Given the description of an element on the screen output the (x, y) to click on. 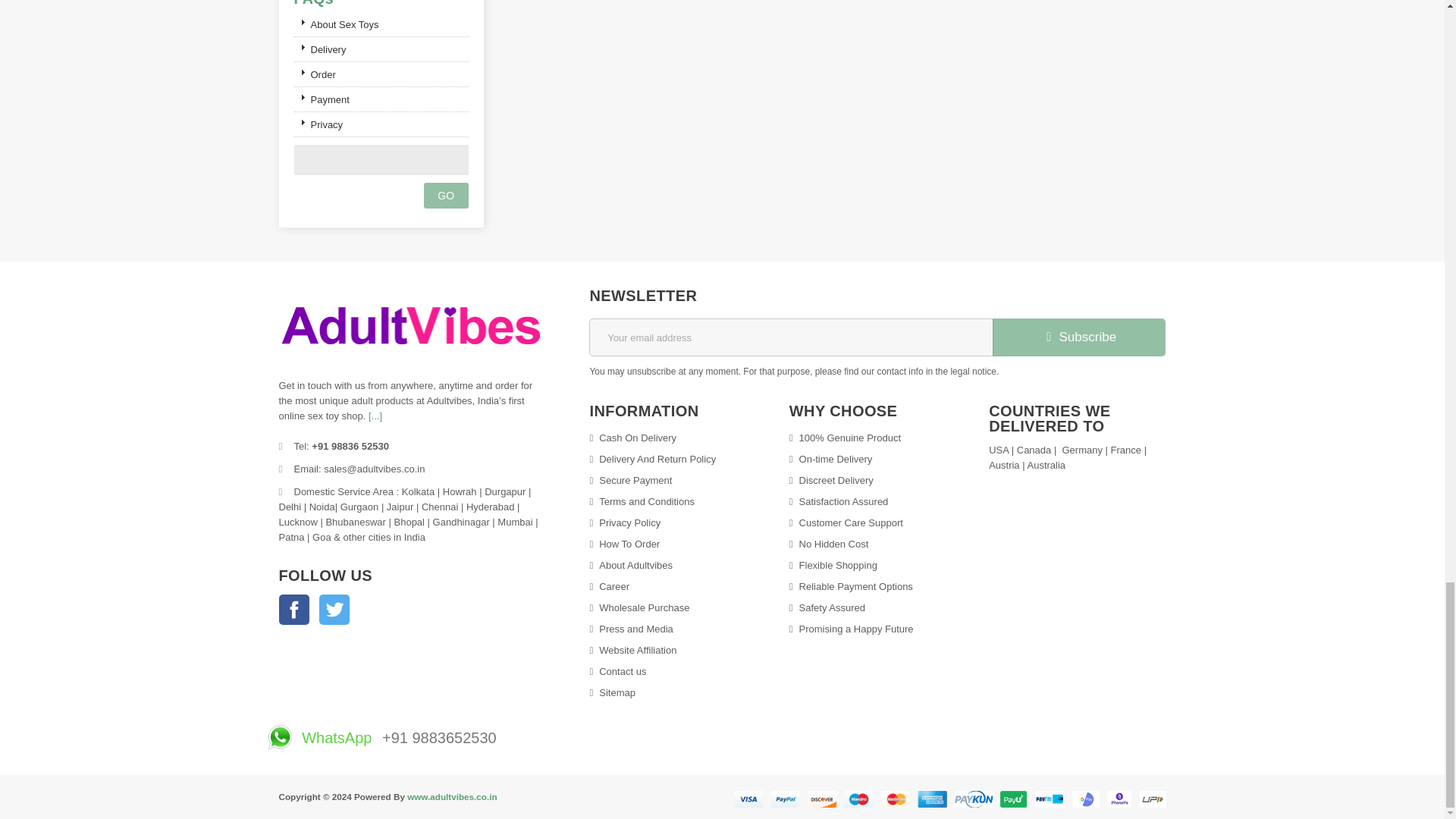
Go (445, 195)
